Given the description of an element on the screen output the (x, y) to click on. 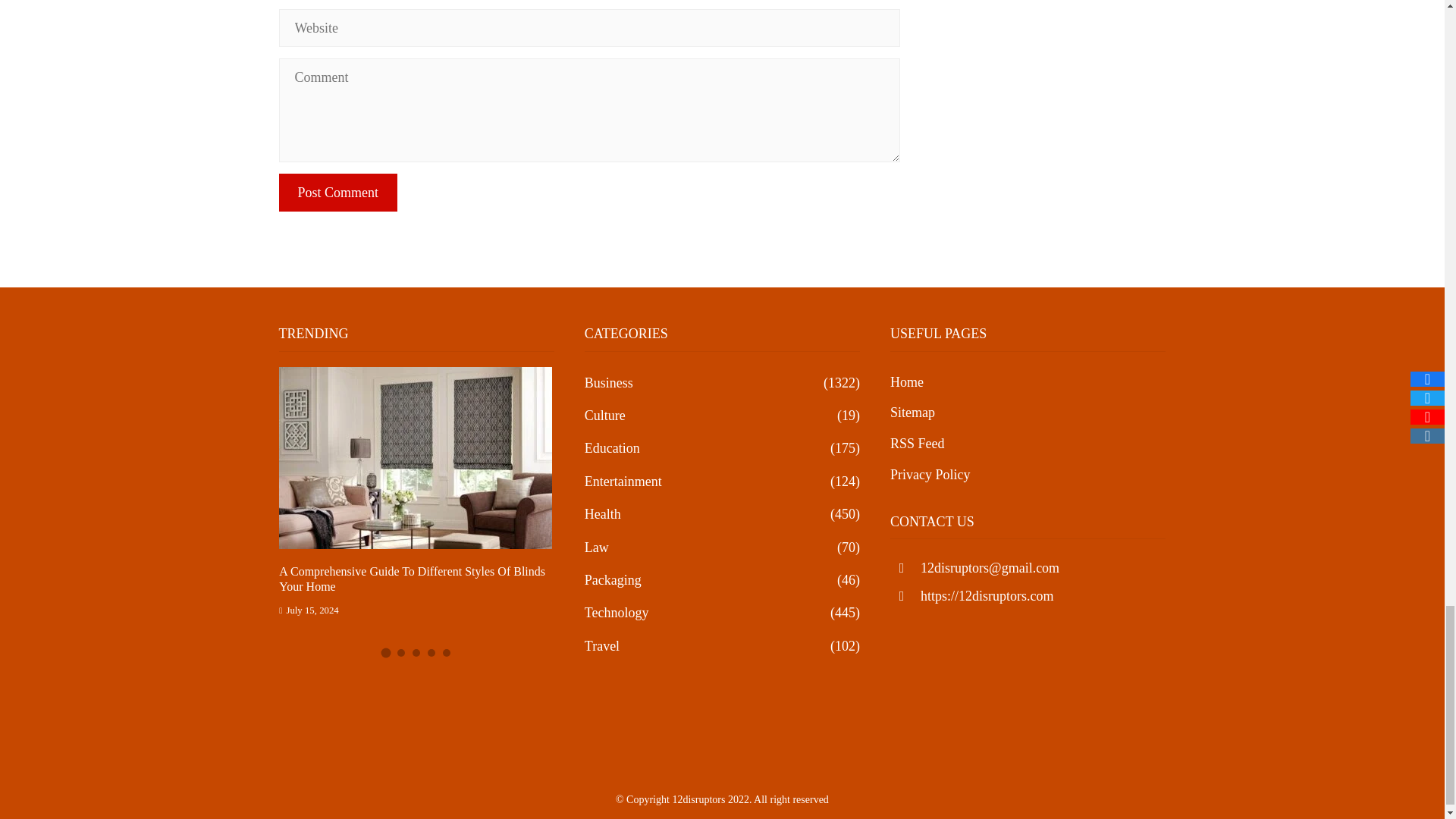
Post Comment (338, 192)
